Given the description of an element on the screen output the (x, y) to click on. 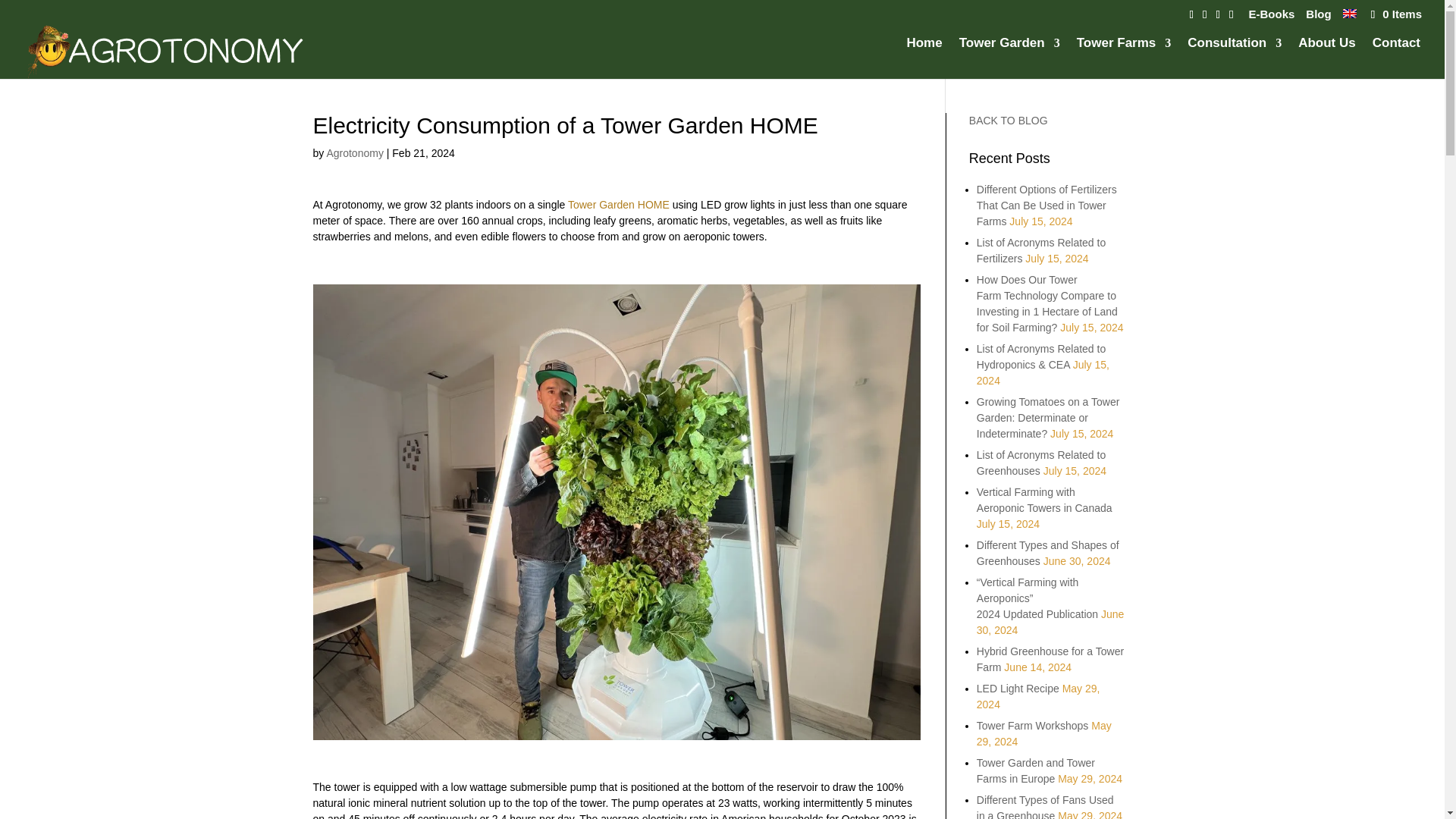
E-Books (1270, 17)
Tower Garden (1009, 57)
About Us (1326, 57)
0 Items (1395, 13)
Tower Farms (1124, 57)
Consultation (1234, 57)
Contact (1397, 57)
Blog (1318, 17)
Posts by Agrotonomy (354, 152)
